Given the description of an element on the screen output the (x, y) to click on. 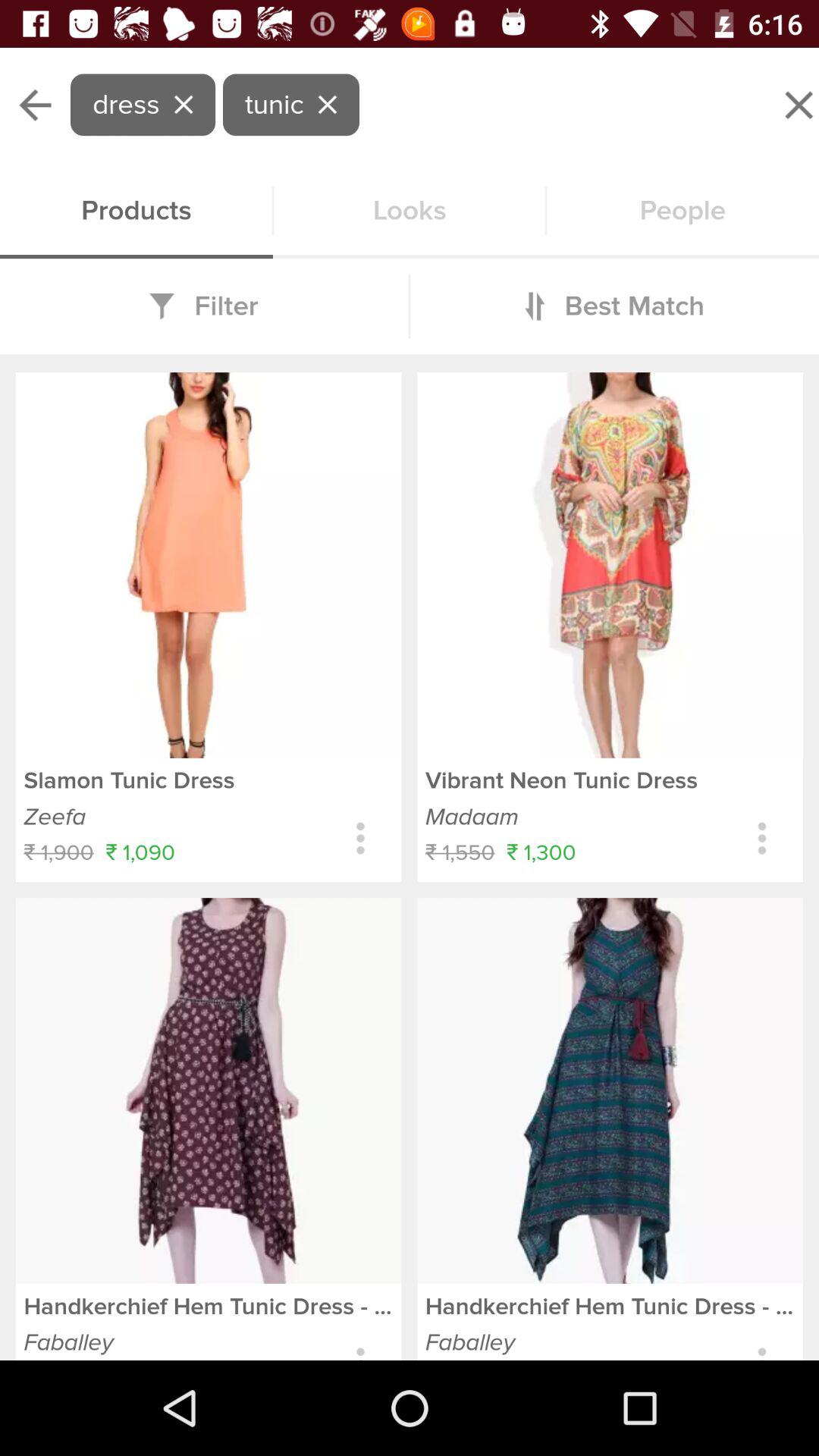
more information about item (762, 838)
